Given the description of an element on the screen output the (x, y) to click on. 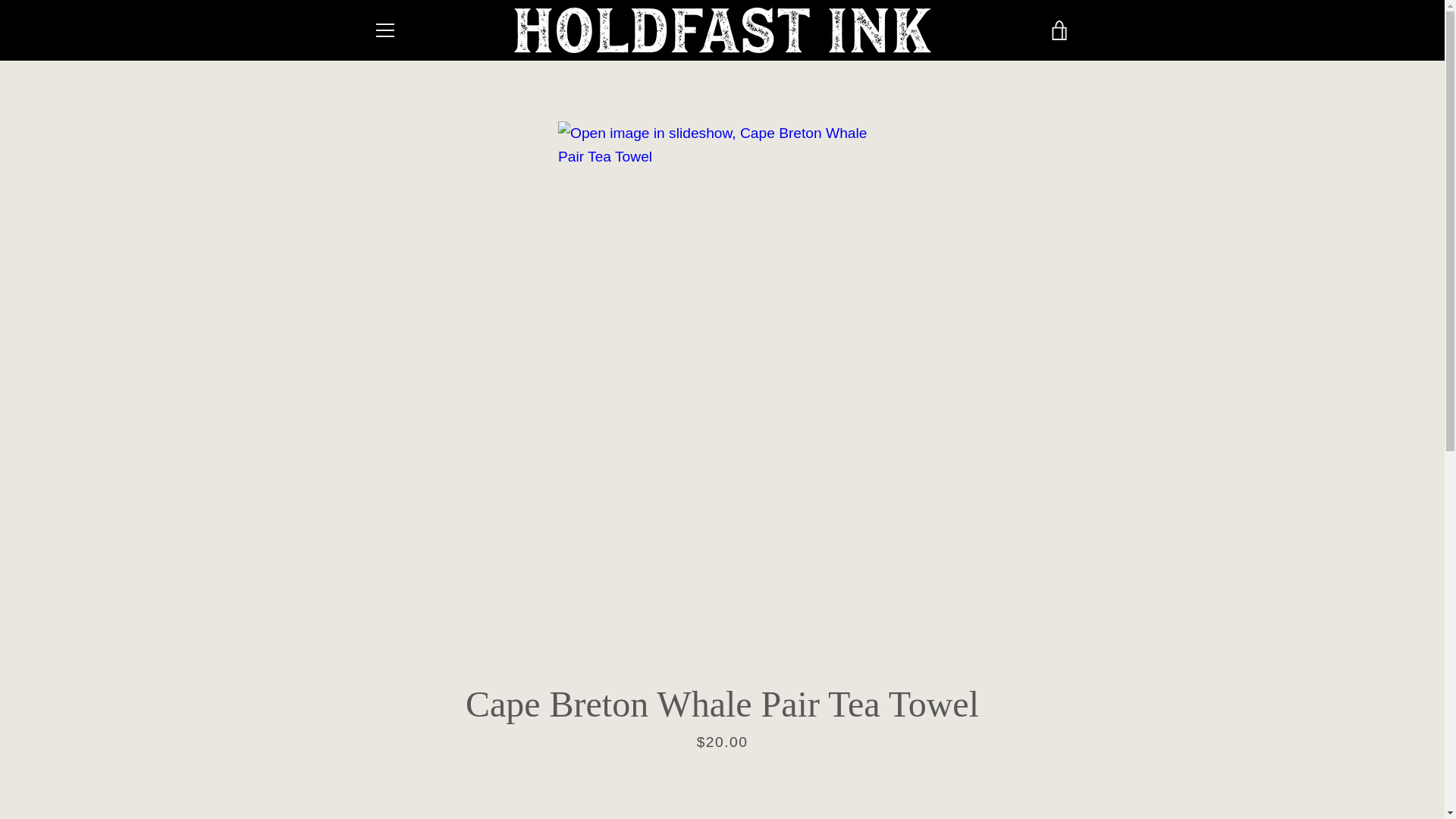
MENU (384, 30)
VIEW CART (1059, 30)
